Given the description of an element on the screen output the (x, y) to click on. 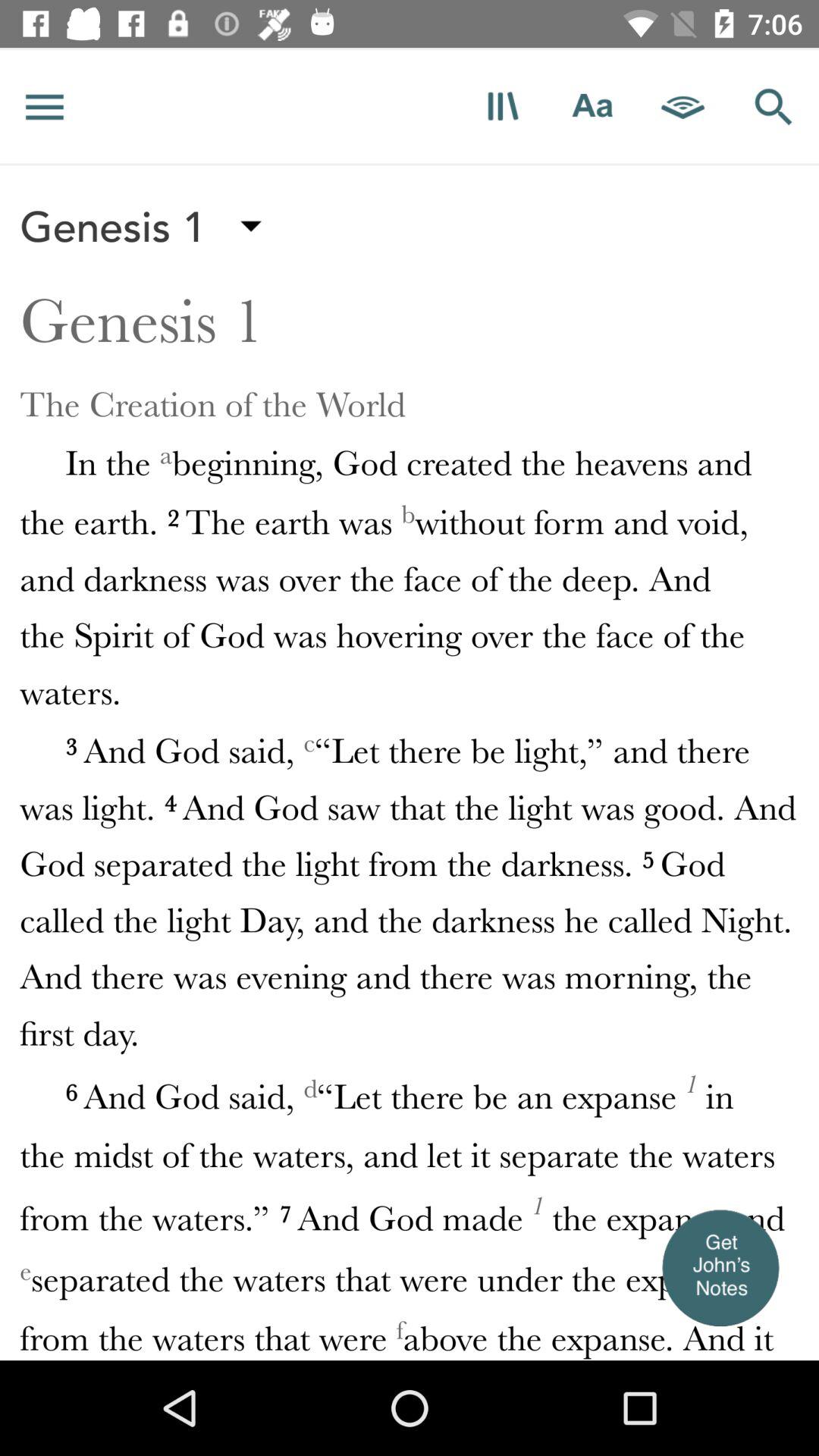
go to notes (720, 1267)
